Given the description of an element on the screen output the (x, y) to click on. 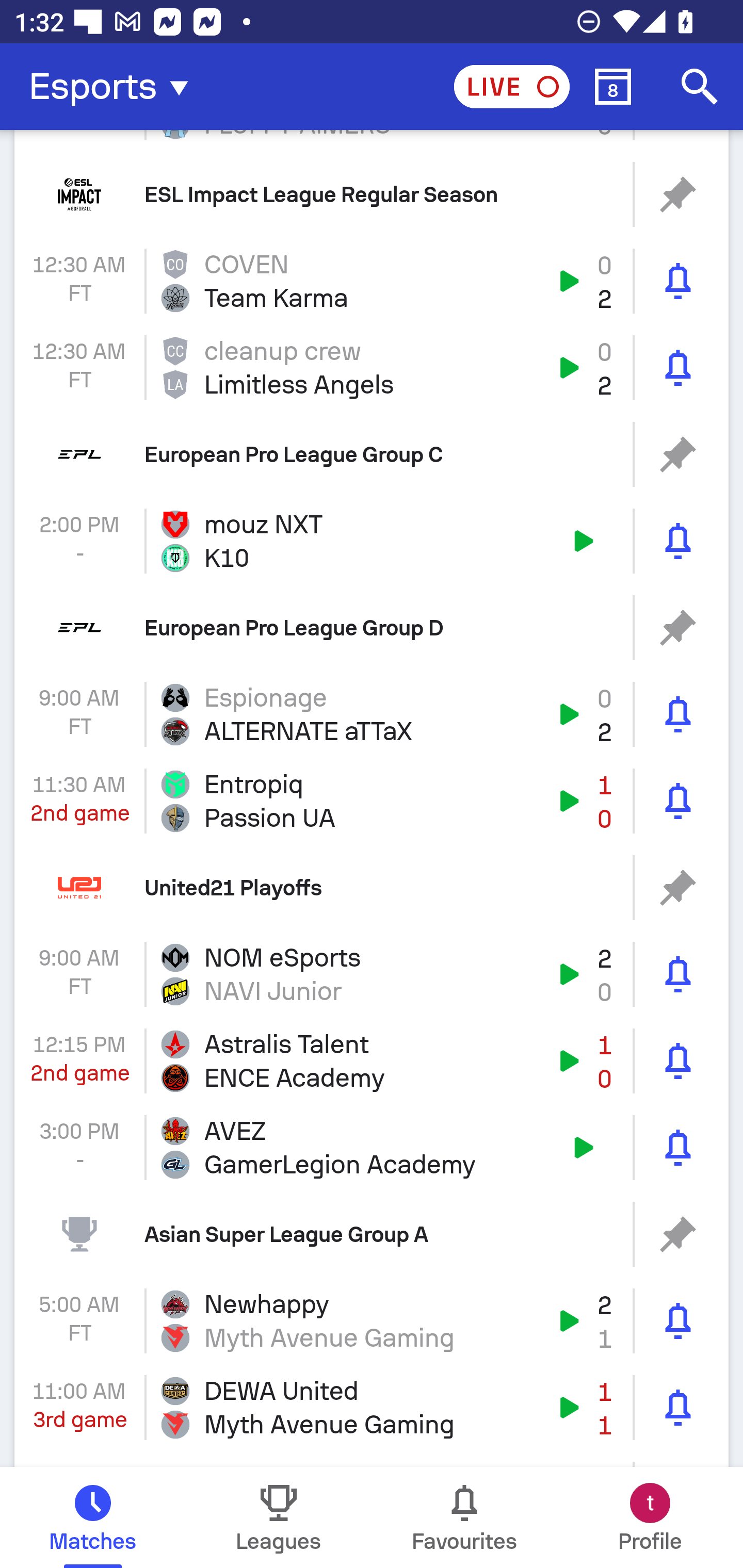
Esports (114, 86)
Calendar (612, 86)
Search (699, 86)
ESL Impact League Regular Season (371, 194)
12:30 AM FT COVEN Team Karma 0 2 (371, 281)
12:30 AM FT cleanup crew Limitless Angels 0 2 (371, 367)
European Pro League Group C (371, 453)
2:00 PM - mouz NXT K10 (371, 540)
European Pro League Group D (371, 627)
9:00 AM FT Espionage ALTERNATE aTTaX 0 2 (371, 714)
11:30 AM 2nd game Entropiq Passion UA 1 0 (371, 800)
United21 Playoffs (371, 887)
9:00 AM FT NOM eSports NAVI Junior 2 0 (371, 974)
12:15 PM 2nd game Astralis Talent ENCE Academy 1 0 (371, 1060)
3:00 PM - AVEZ GamerLegion Academy (371, 1147)
Asian Super League Group A (371, 1234)
5:00 AM FT Newhappy Myth Avenue Gaming 2 1 (371, 1320)
Leagues (278, 1517)
Favourites (464, 1517)
Profile (650, 1517)
